Given the description of an element on the screen output the (x, y) to click on. 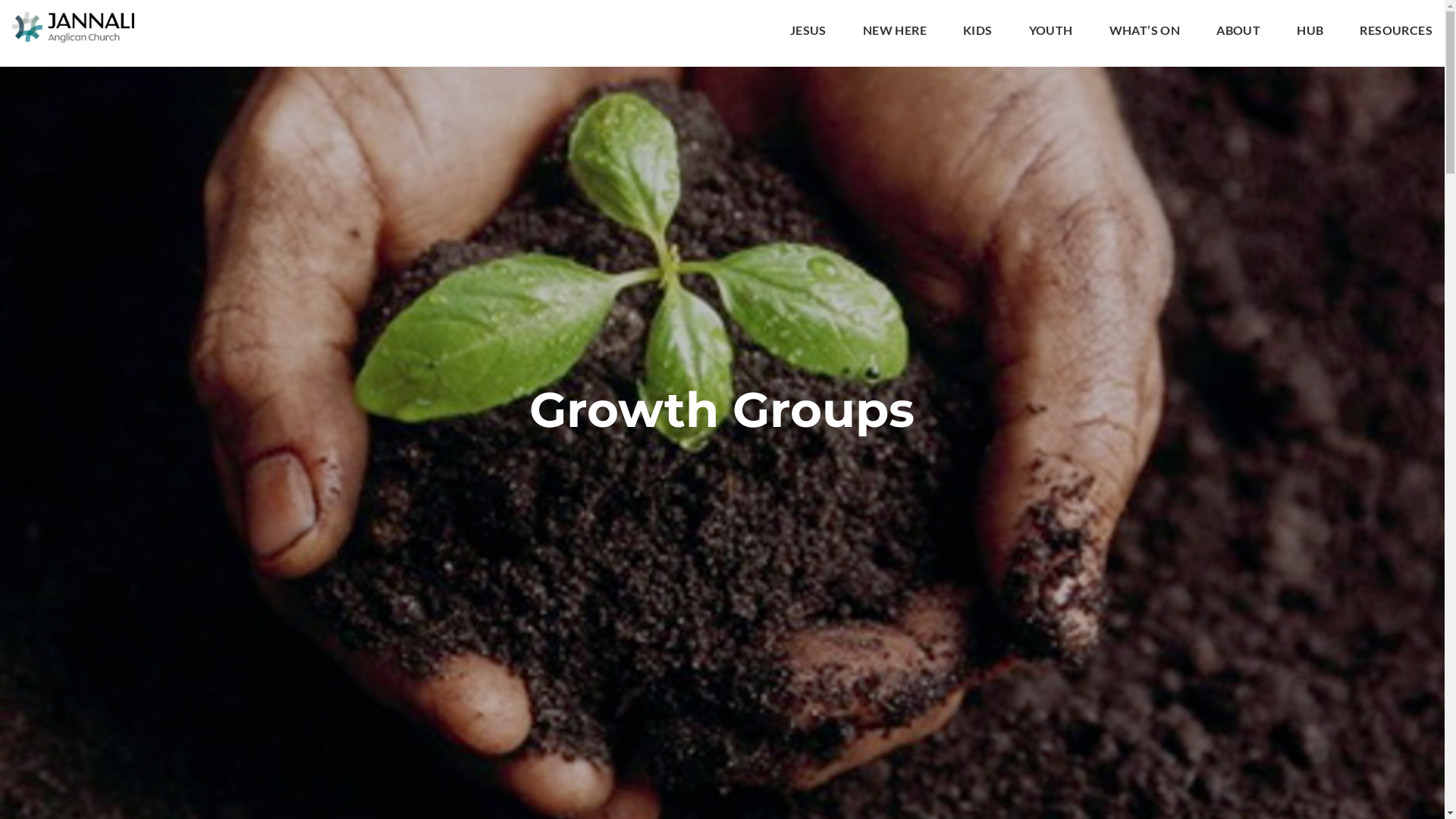
ABOUT Element type: text (1238, 33)
NEW HERE Element type: text (894, 33)
RESOURCES Element type: text (1395, 33)
HUB Element type: text (1309, 33)
YOUTH Element type: text (1051, 33)
JESUS Element type: text (808, 33)
KIDS Element type: text (977, 33)
